Given the description of an element on the screen output the (x, y) to click on. 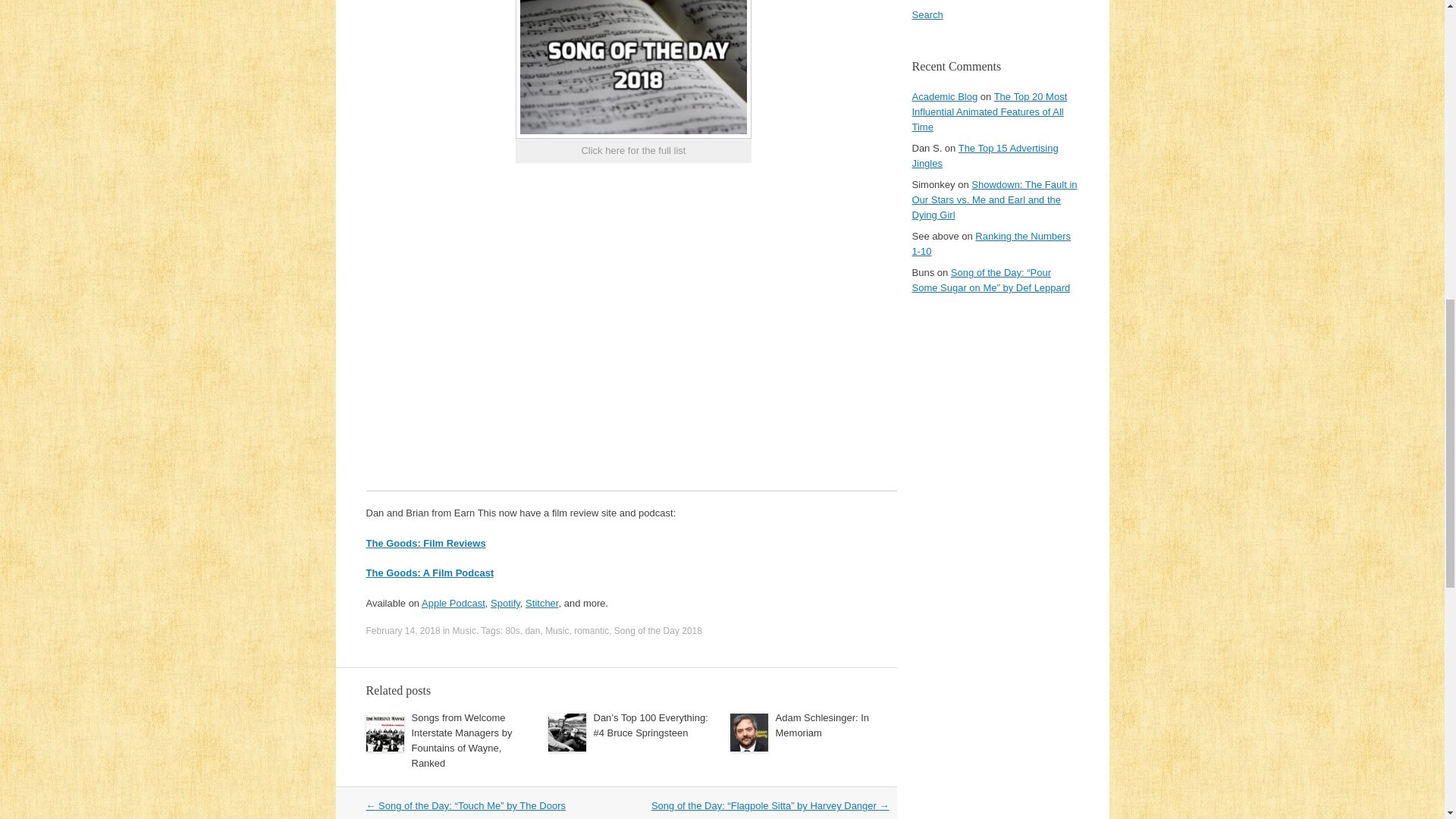
Stitcher (541, 603)
Apple Podcast (453, 603)
The Goods: Film Reviews (424, 542)
Permalink to Adam Schlesinger: In Memoriam (821, 724)
February 14, 2018 (402, 630)
Music (556, 630)
The Goods: A Film Podcast (429, 572)
Song of the Day 2018 (657, 630)
Spotify (504, 603)
Music (464, 630)
